Given the description of an element on the screen output the (x, y) to click on. 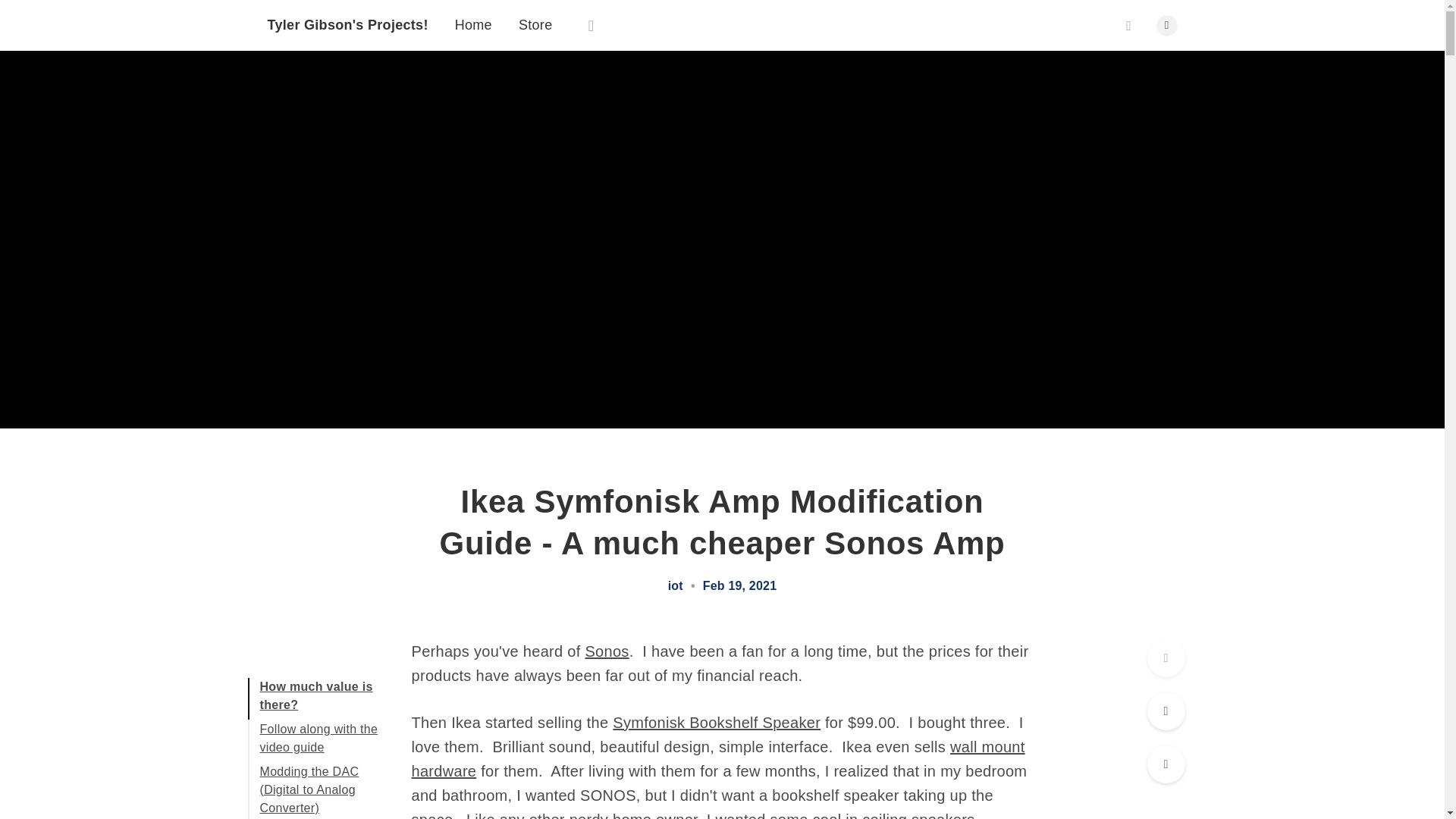
Symfonisk Bookshelf Speaker (716, 722)
Tyler Gibson's Projects! (347, 7)
Home (473, 17)
iot (675, 585)
Follow along with the video guide (318, 737)
in ceiling speakers (909, 815)
wall mount hardware (717, 758)
Sonos (606, 651)
Store (535, 21)
How much value is there? (315, 695)
